Given the description of an element on the screen output the (x, y) to click on. 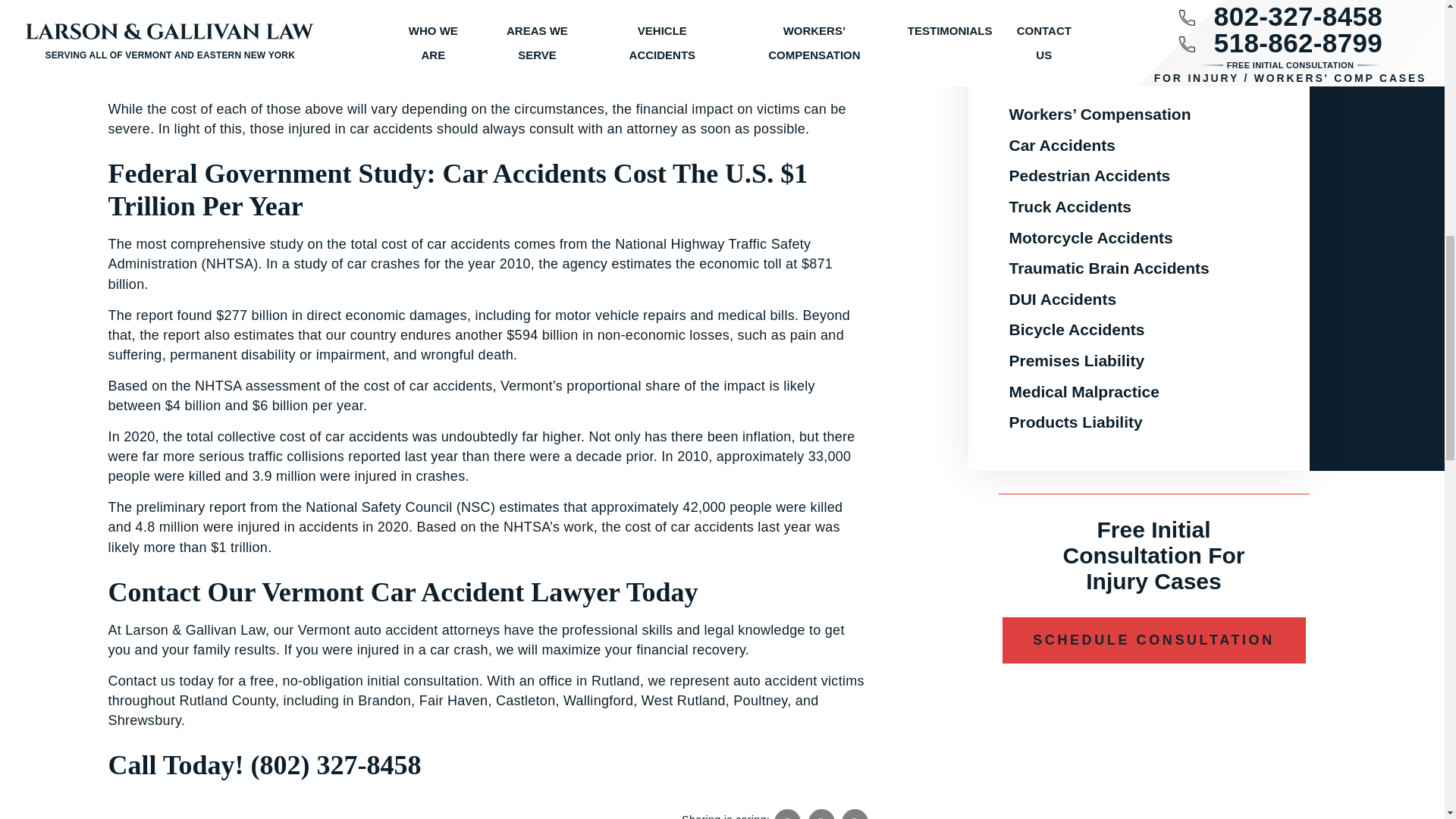
Share on Twitter (821, 814)
Share on LinkedIn (854, 814)
Share on Facebook (787, 814)
